Given the description of an element on the screen output the (x, y) to click on. 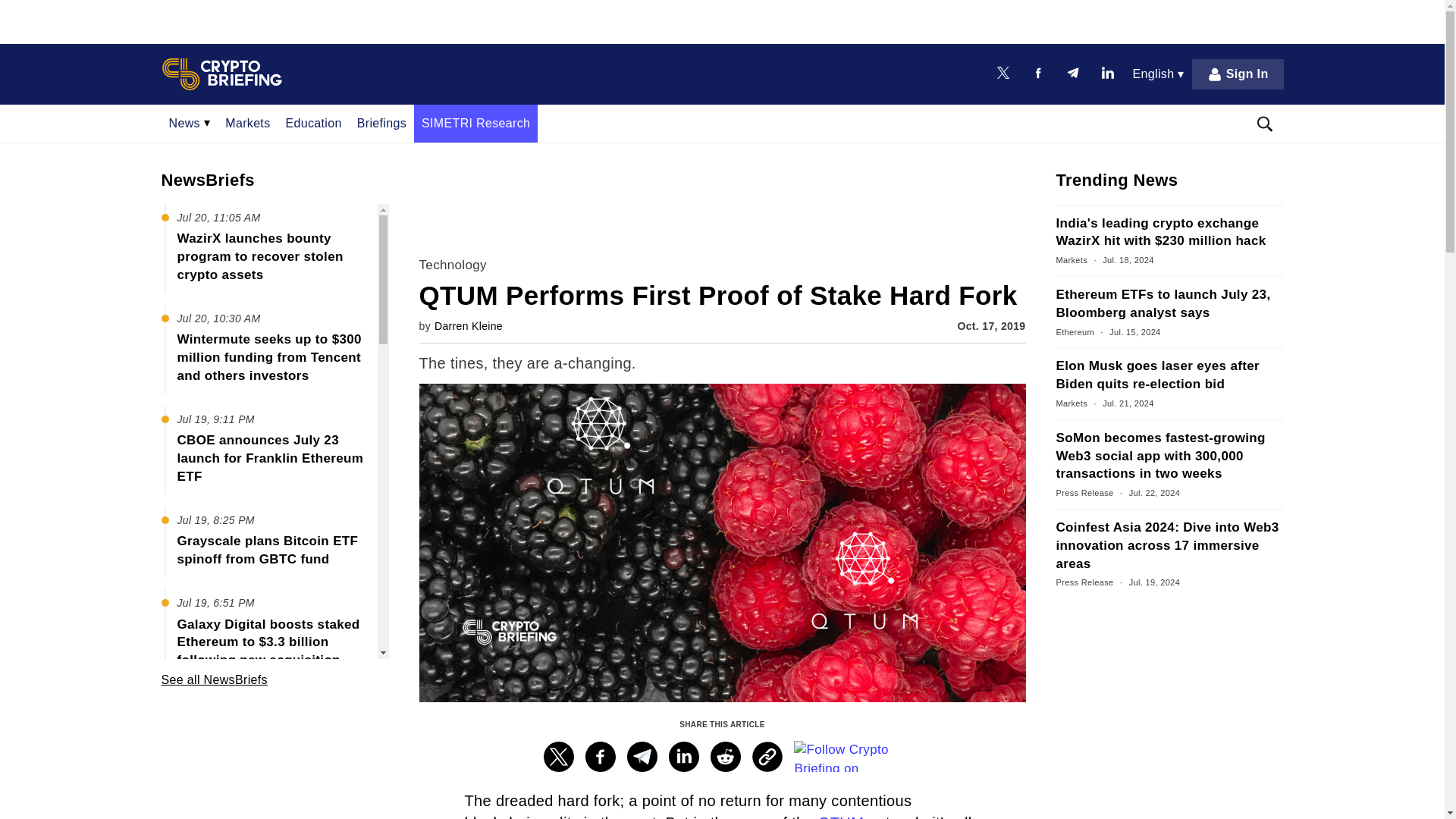
Sign In (1238, 73)
News (188, 123)
Sign In (1238, 73)
